Given the description of an element on the screen output the (x, y) to click on. 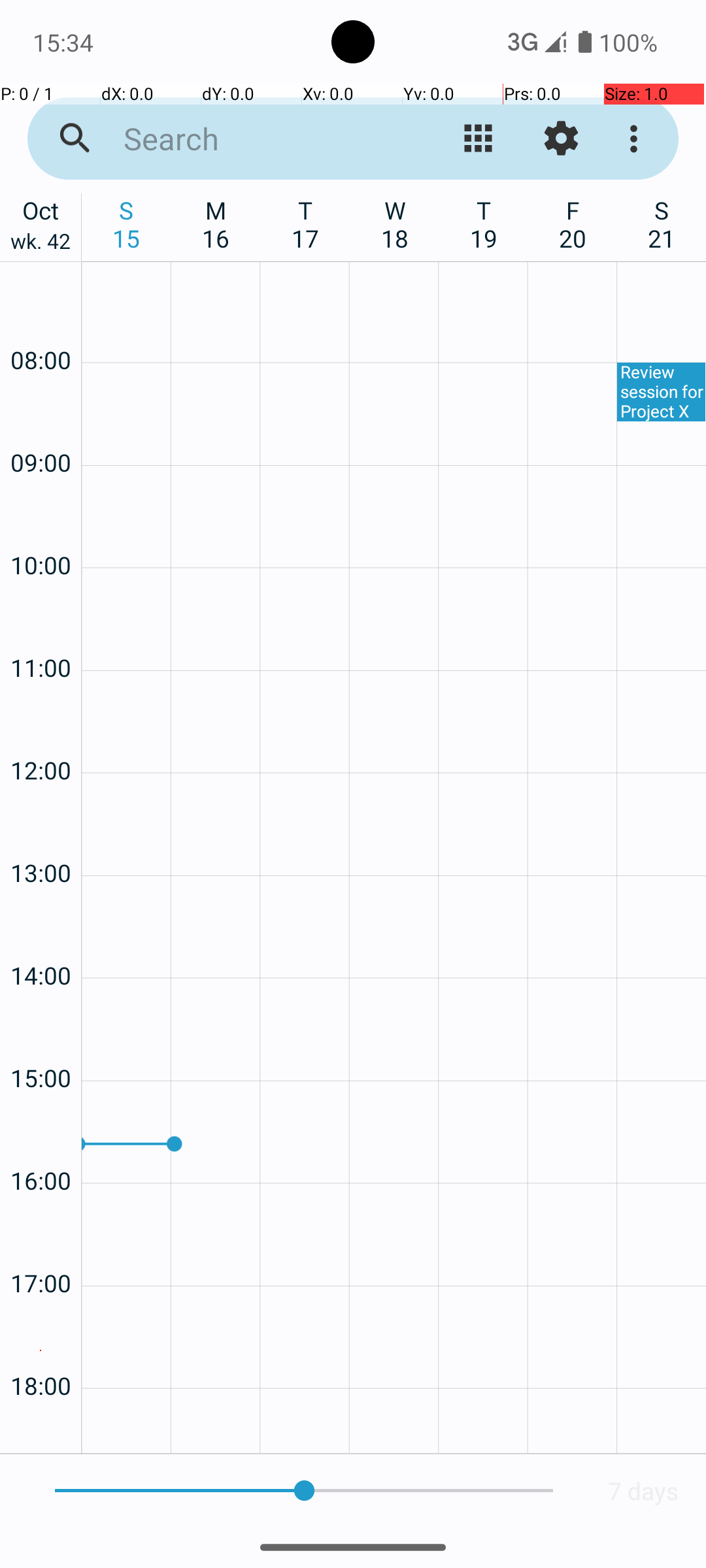
wk. 42 Element type: android.widget.TextView (40, 243)
7 days Element type: android.widget.TextView (642, 1490)
08:00 Element type: android.widget.TextView (40, 324)
09:00 Element type: android.widget.TextView (40, 427)
10:00 Element type: android.widget.TextView (40, 529)
11:00 Element type: android.widget.TextView (40, 632)
12:00 Element type: android.widget.TextView (40, 735)
13:00 Element type: android.widget.TextView (40, 837)
14:00 Element type: android.widget.TextView (40, 940)
15:00 Element type: android.widget.TextView (40, 1042)
16:00 Element type: android.widget.TextView (40, 1145)
17:00 Element type: android.widget.TextView (40, 1247)
18:00 Element type: android.widget.TextView (40, 1350)
19:00 Element type: android.widget.TextView (40, 1428)
S
15 Element type: android.widget.TextView (126, 223)
M
16 Element type: android.widget.TextView (215, 223)
T
17 Element type: android.widget.TextView (305, 223)
W
18 Element type: android.widget.TextView (394, 223)
T
19 Element type: android.widget.TextView (483, 223)
F
20 Element type: android.widget.TextView (572, 223)
S
21 Element type: android.widget.TextView (661, 223)
Review session for Project X Element type: android.widget.TextView (661, 391)
